Given the description of an element on the screen output the (x, y) to click on. 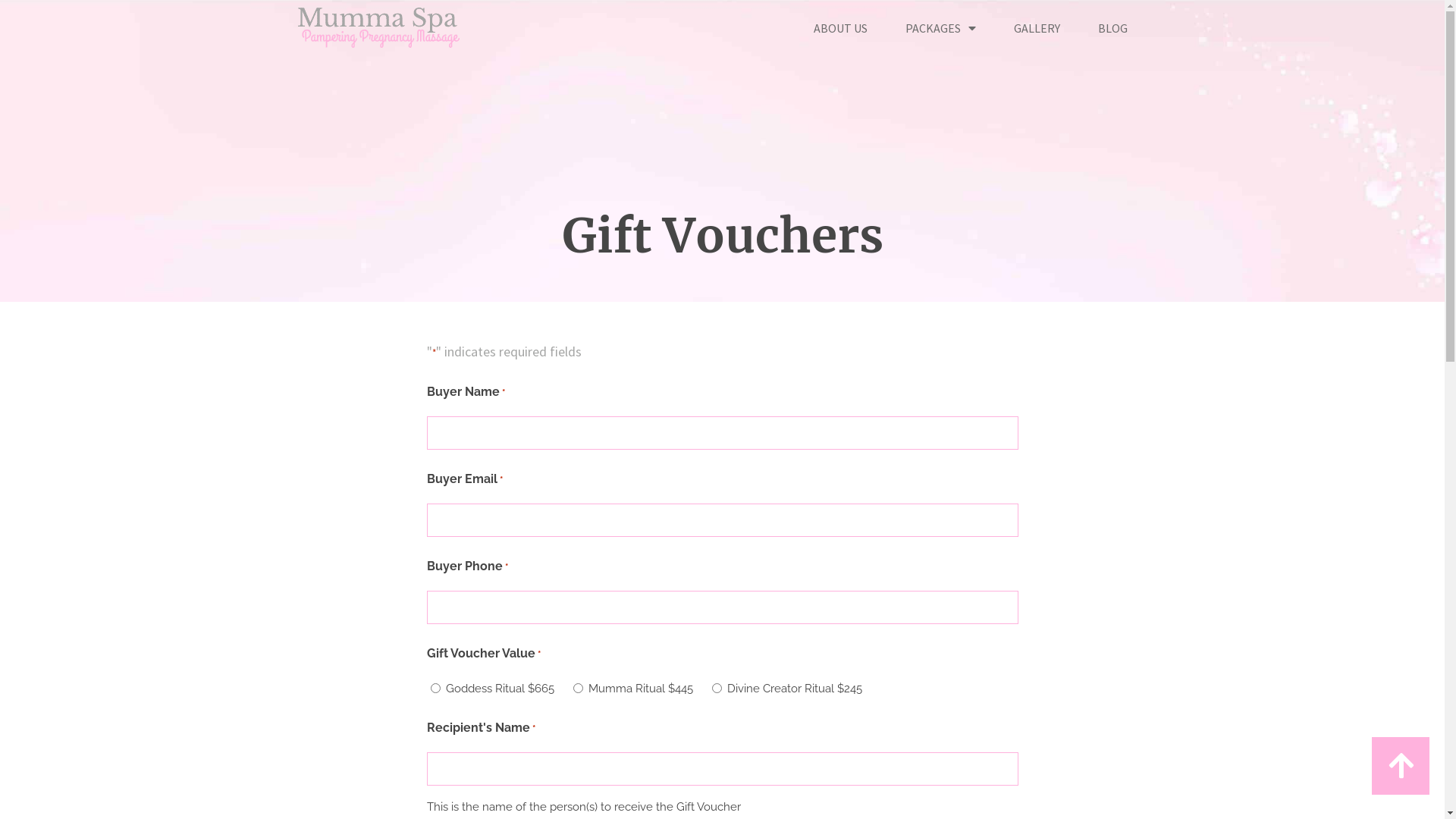
BLOG Element type: text (1112, 27)
PACKAGES Element type: text (940, 27)
GALLERY Element type: text (1036, 27)
ABOUT US Element type: text (840, 27)
